Given the description of an element on the screen output the (x, y) to click on. 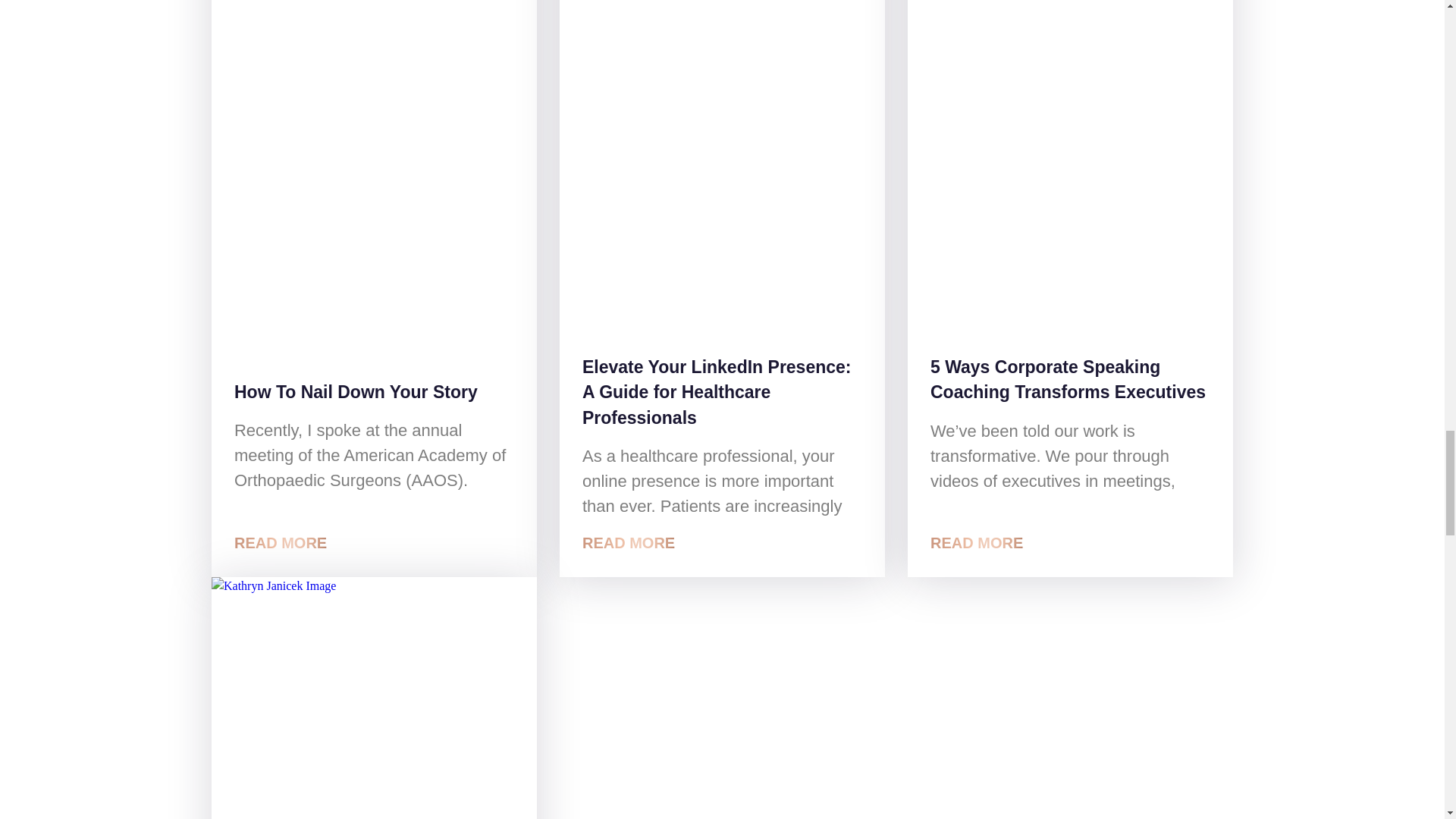
READ MORE (628, 542)
How To Nail Down Your Story (355, 392)
READ MORE (280, 542)
